Given the description of an element on the screen output the (x, y) to click on. 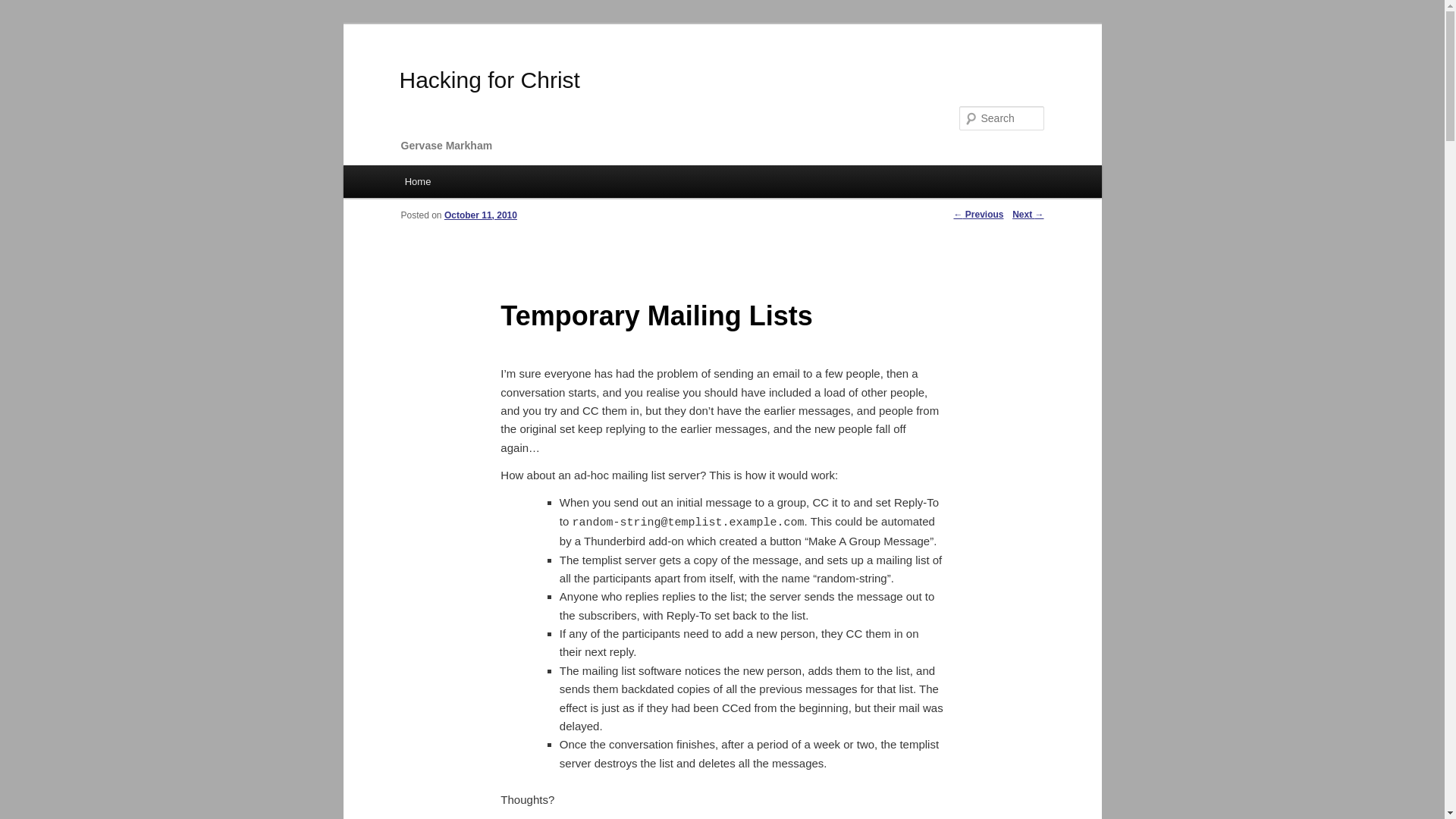
10:02 AM (480, 214)
Skip to secondary content (479, 184)
Hacking for Christ (488, 79)
October 11, 2010 (480, 214)
Skip to secondary content (479, 184)
Home (417, 181)
Hacking for Christ (488, 79)
Search (24, 8)
Skip to primary content (472, 184)
Skip to primary content (472, 184)
